Given the description of an element on the screen output the (x, y) to click on. 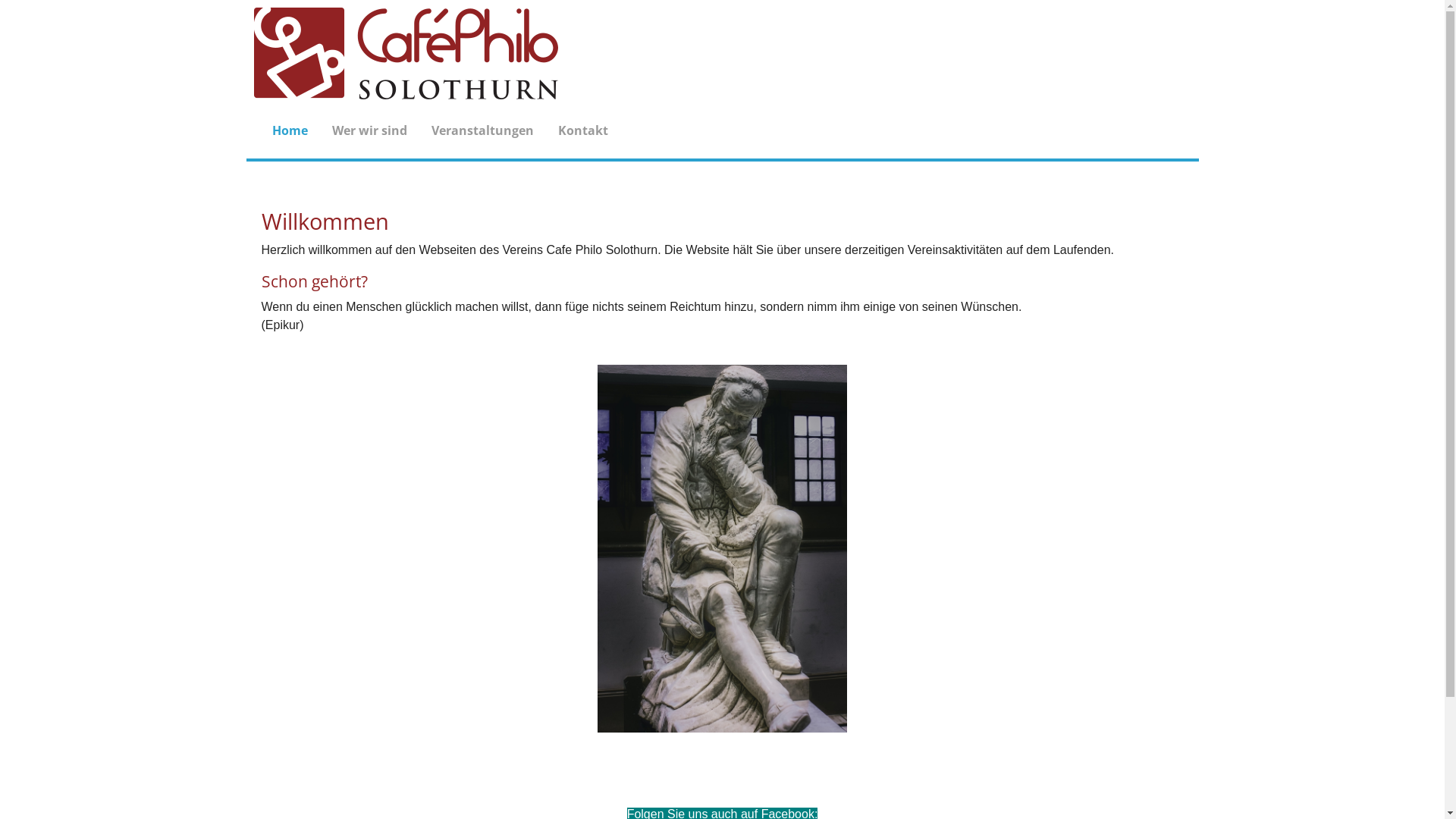
Wer wir sind Element type: text (369, 130)
Kontakt Element type: text (583, 130)
Veranstaltungen Element type: text (481, 130)
Home Element type: text (289, 130)
